Given the description of an element on the screen output the (x, y) to click on. 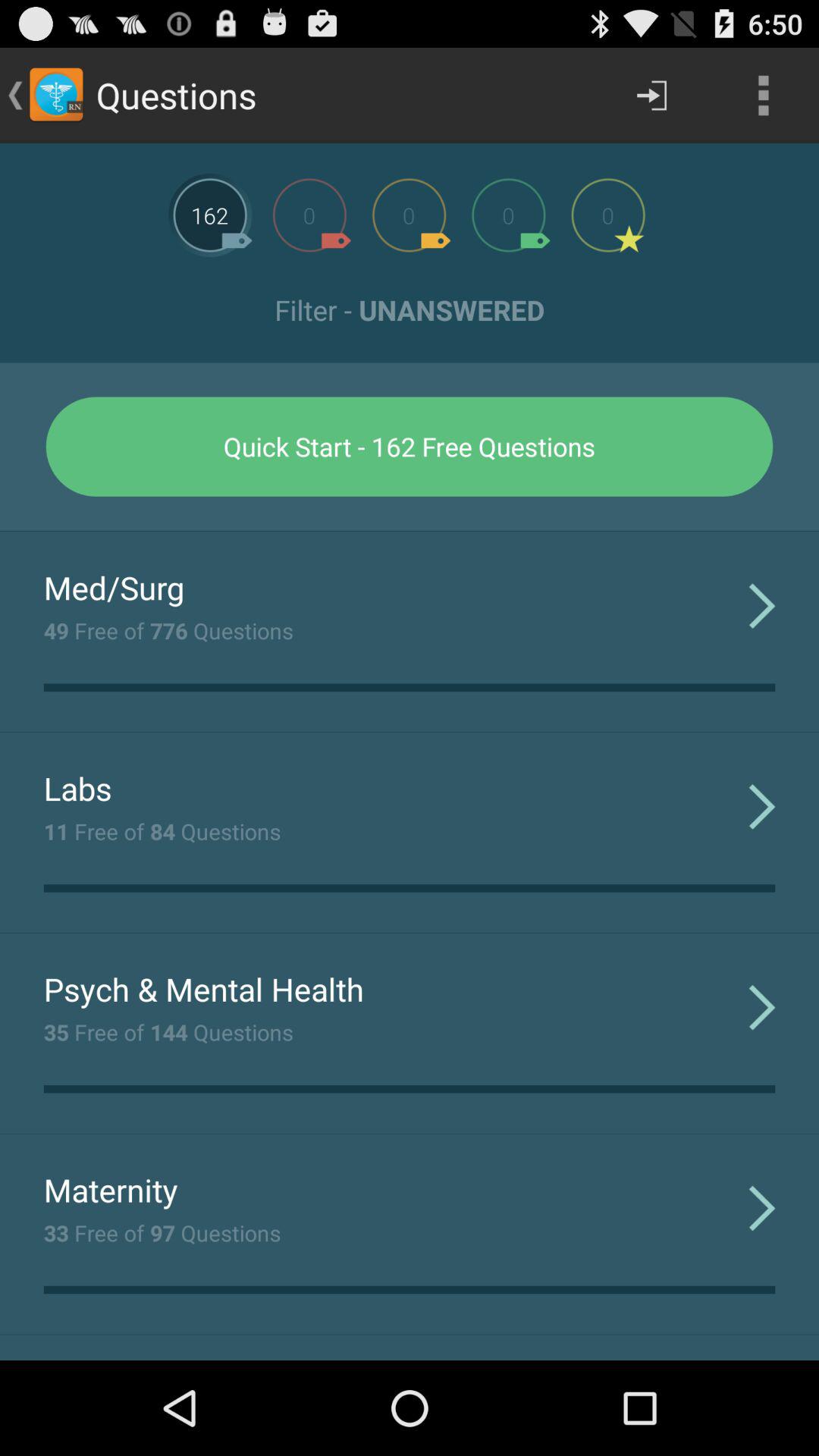
yellow tag (409, 215)
